Given the description of an element on the screen output the (x, y) to click on. 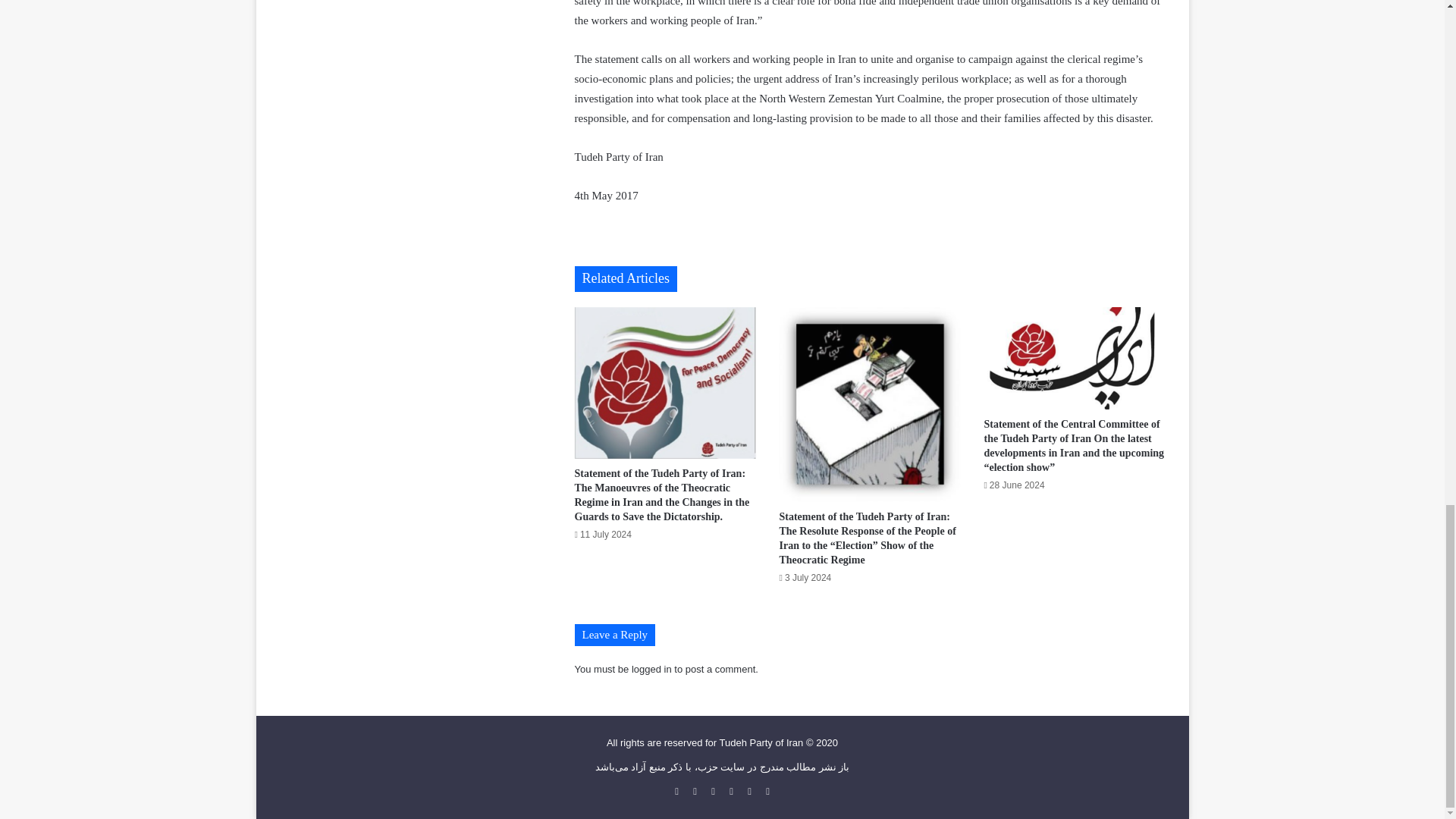
Tudeh Party of Iran (761, 742)
logged in (651, 668)
